Given the description of an element on the screen output the (x, y) to click on. 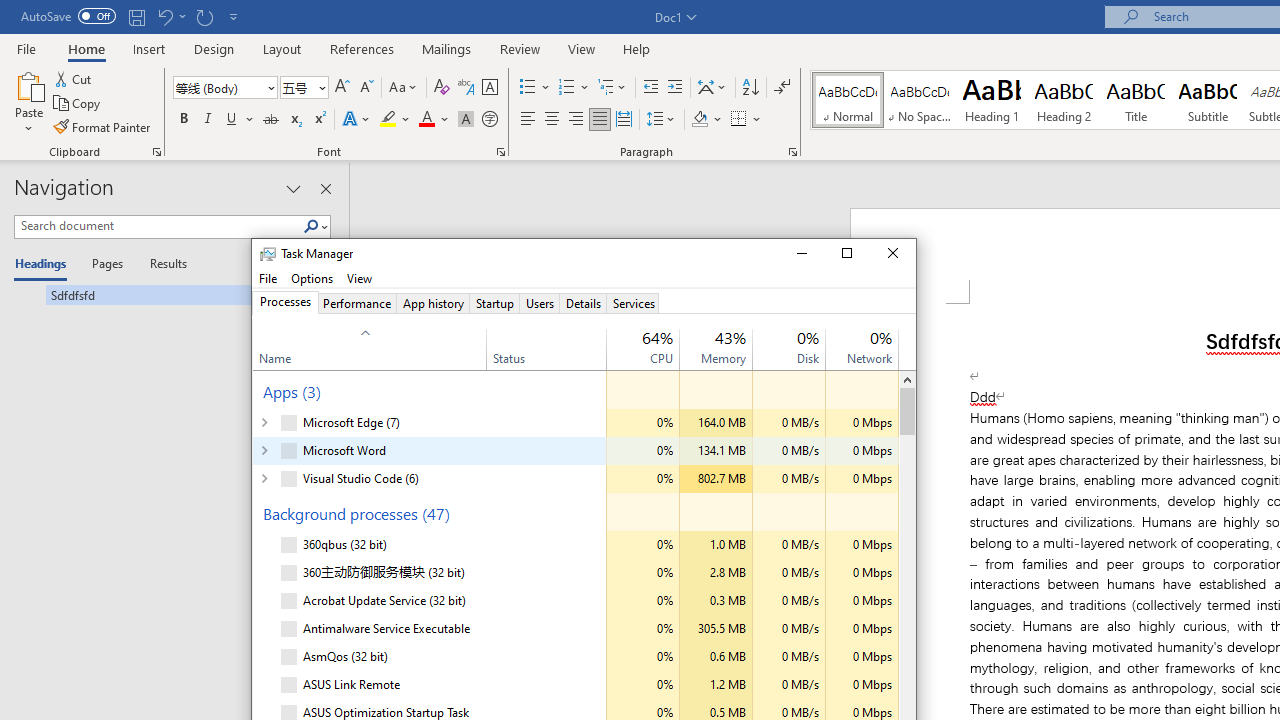
Heading 2 (1063, 100)
Details (583, 303)
Heading 1 (991, 100)
Subtitle (1208, 100)
